Given the description of an element on the screen output the (x, y) to click on. 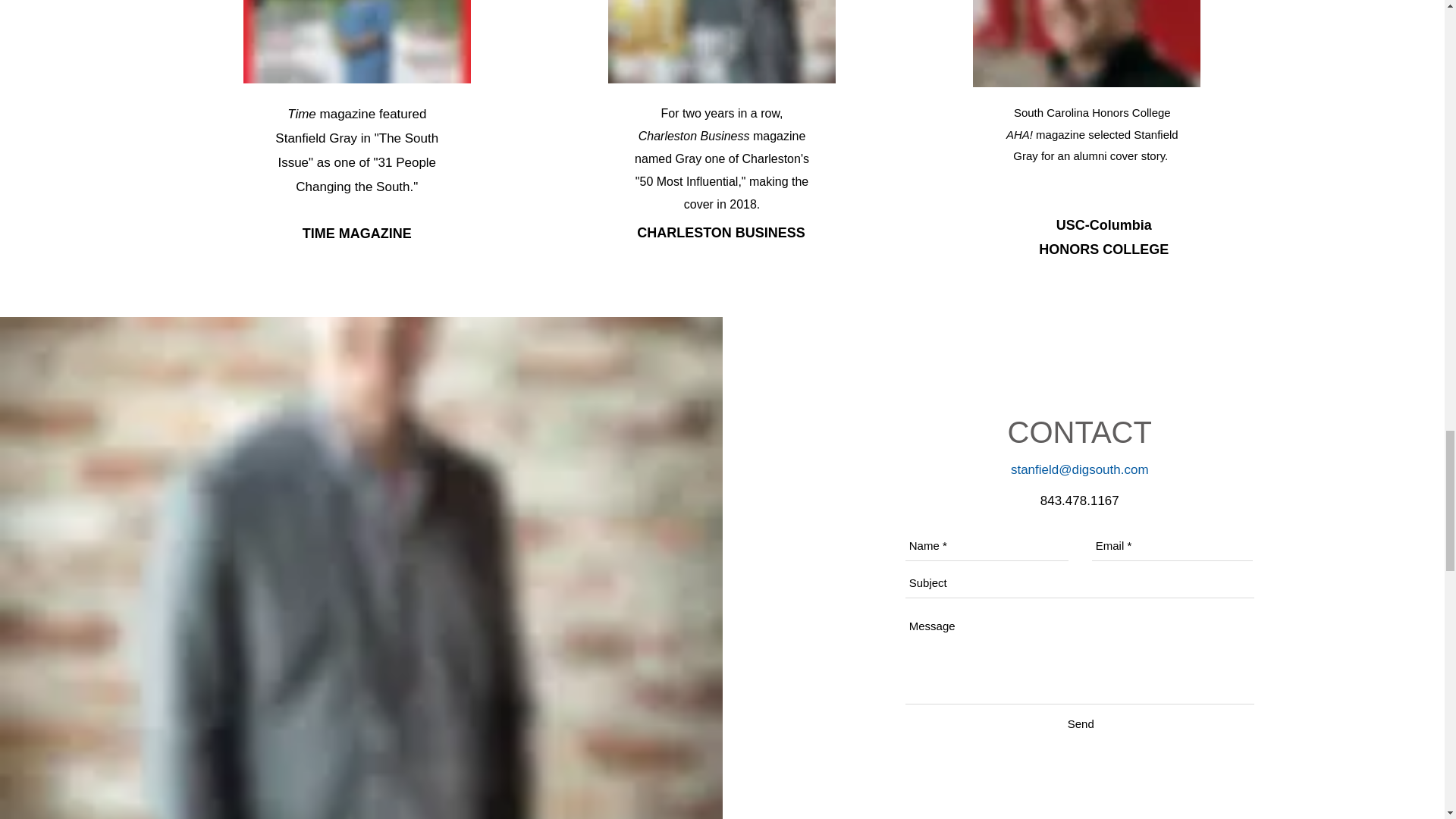
Send (1080, 723)
843.478.1167 (1080, 500)
